Given the description of an element on the screen output the (x, y) to click on. 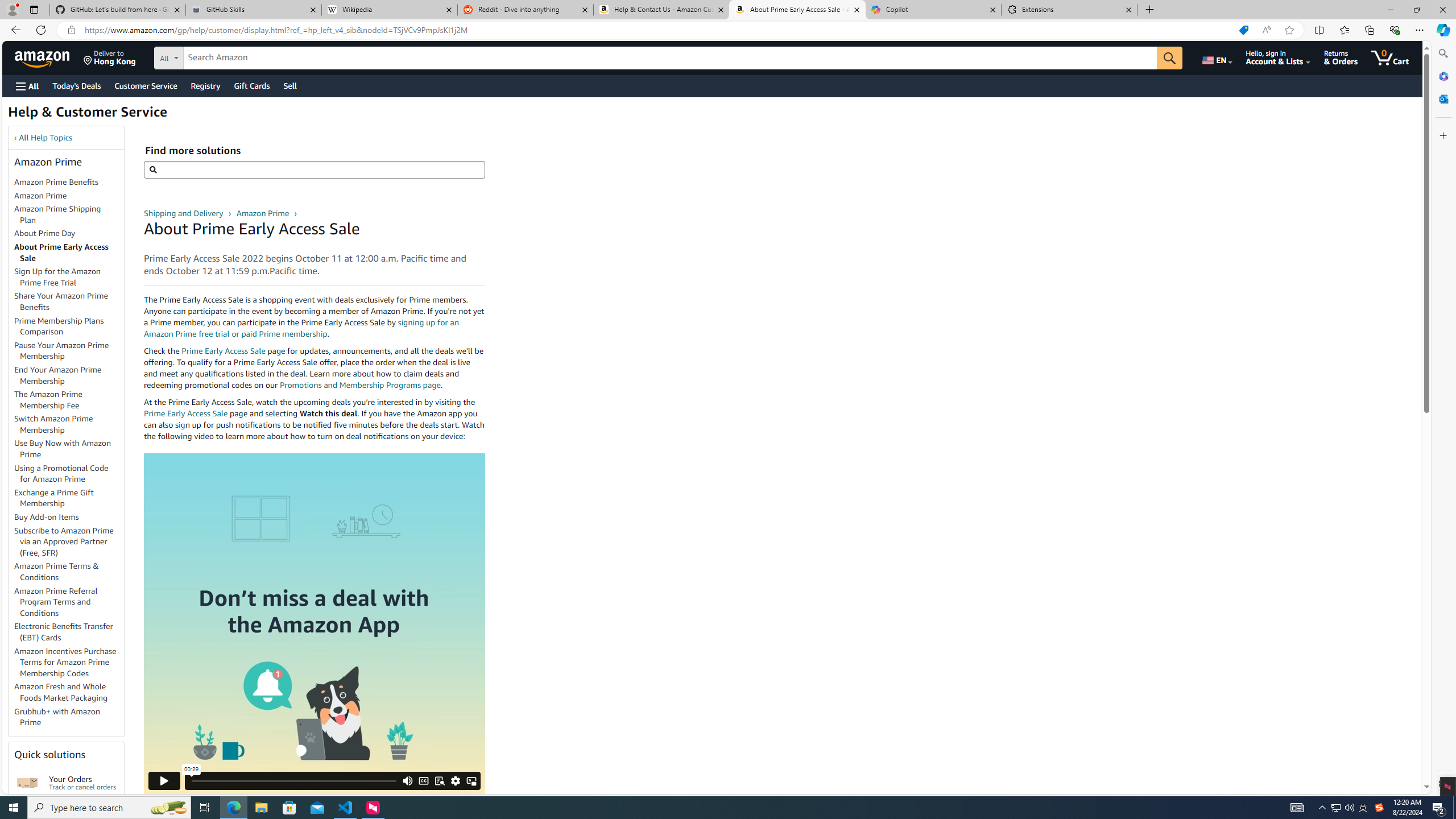
Prime Membership Plans Comparison (68, 326)
Customer Service (145, 85)
0 items in cart (1389, 57)
Using a Promotional Code for Amazon Prime (68, 473)
Your Orders (27, 782)
About Prime Early Access Sale - Amazon Customer Service (797, 9)
Grubhub+ with Amazon Prime (57, 716)
All Help Topics (45, 137)
